Given the description of an element on the screen output the (x, y) to click on. 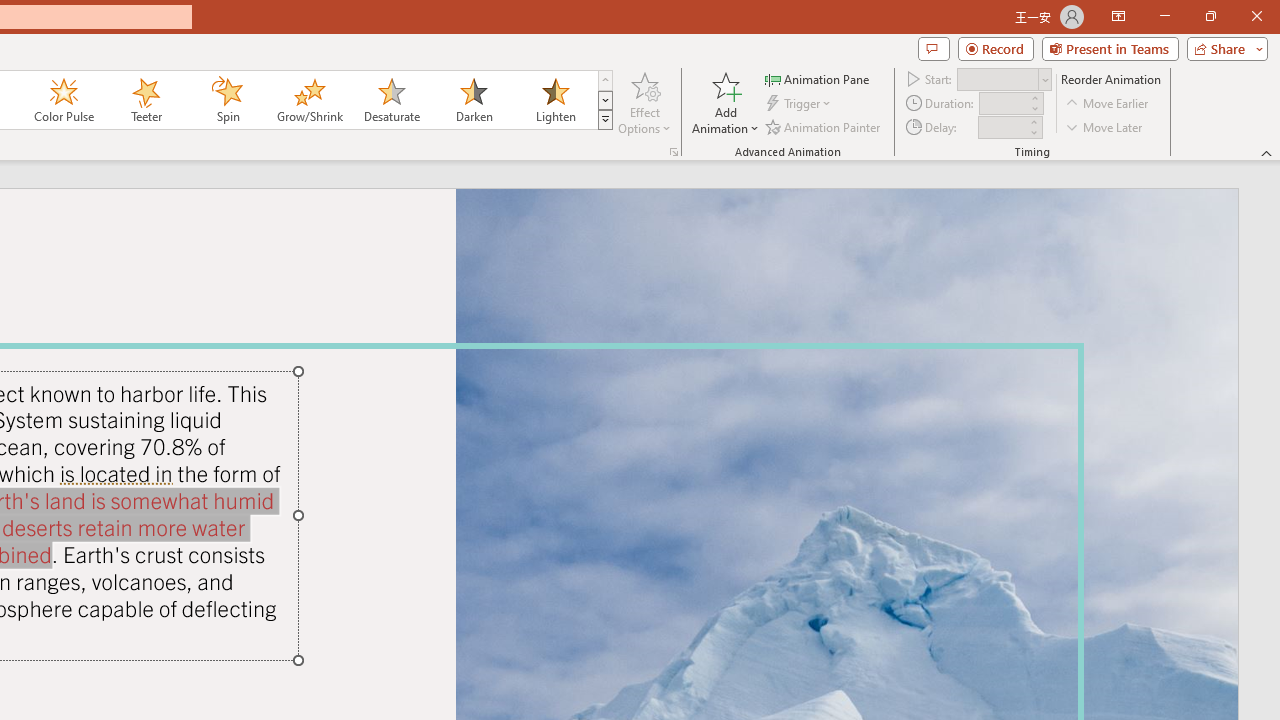
Collapse the Ribbon (1267, 152)
Effect Options (644, 102)
Class: NetUIImage (605, 119)
Animation Duration (1003, 103)
Animation Painter (824, 126)
Desaturate (391, 100)
Animation Pane (818, 78)
Row Down (605, 100)
Teeter (145, 100)
Present in Teams (1109, 48)
Less (1033, 132)
Grow/Shrink (309, 100)
More Options... (673, 151)
